Given the description of an element on the screen output the (x, y) to click on. 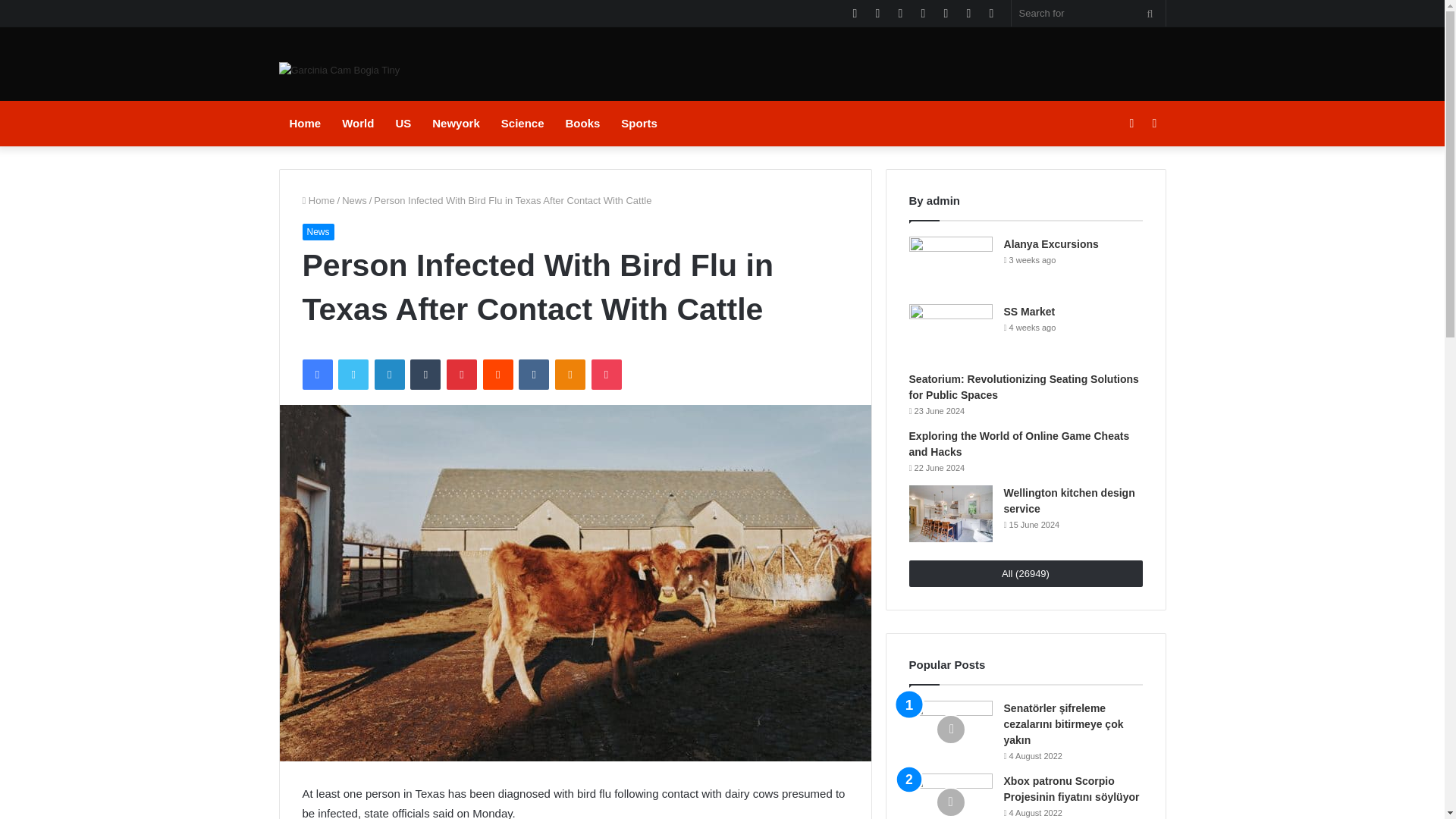
VKontakte (533, 374)
Odnoklassniki (569, 374)
Garcinia Cam Bogia Tiny (339, 69)
VKontakte (533, 374)
US (403, 123)
Facebook (316, 374)
Home (317, 200)
Odnoklassniki (569, 374)
LinkedIn (389, 374)
Twitter (352, 374)
Reddit (498, 374)
Twitter (877, 13)
Search for (1149, 13)
News (354, 200)
Sidebar (1154, 123)
